Given the description of an element on the screen output the (x, y) to click on. 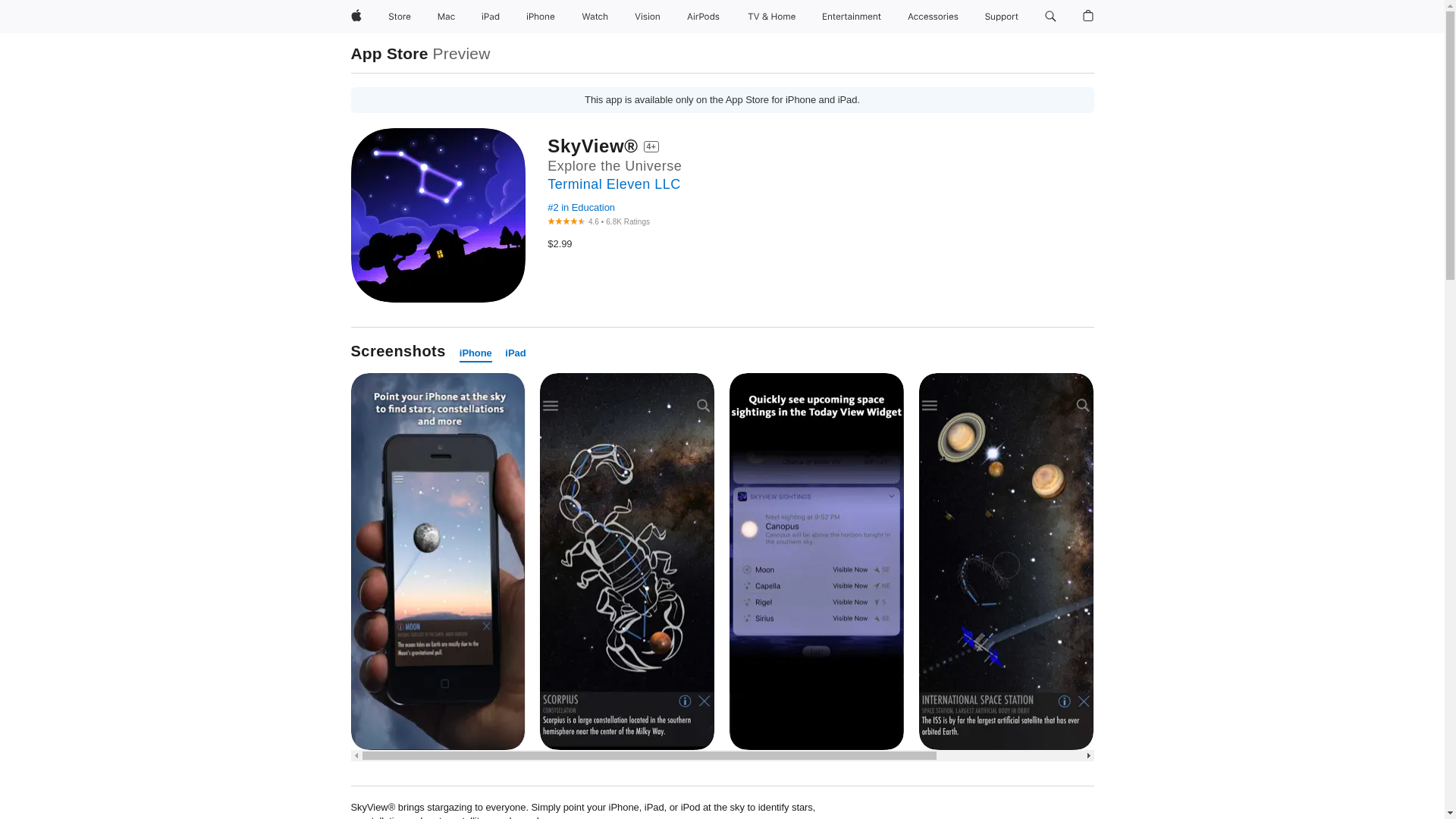
Store (398, 16)
